Given the description of an element on the screen output the (x, y) to click on. 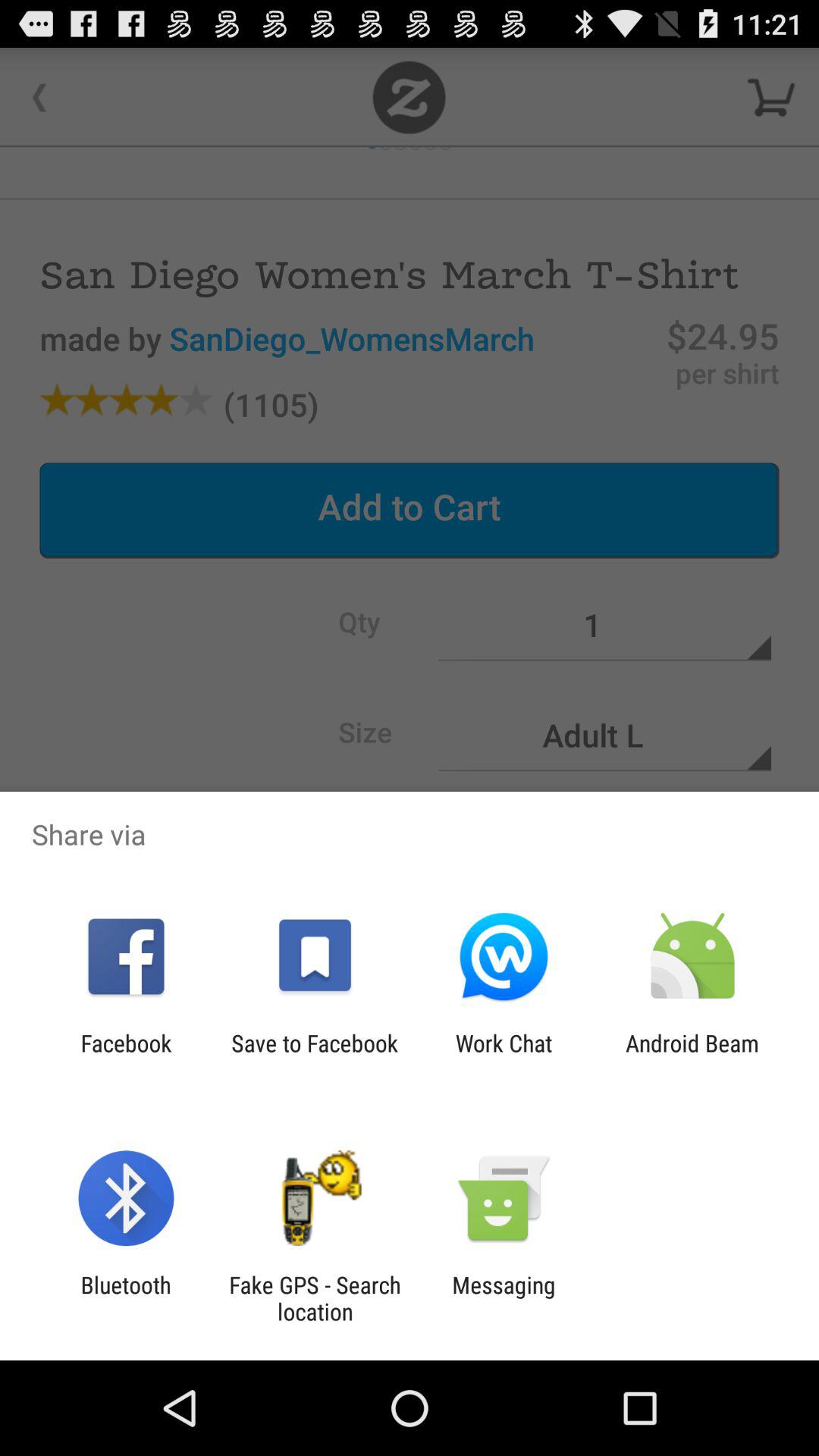
open icon to the right of work chat app (692, 1056)
